Given the description of an element on the screen output the (x, y) to click on. 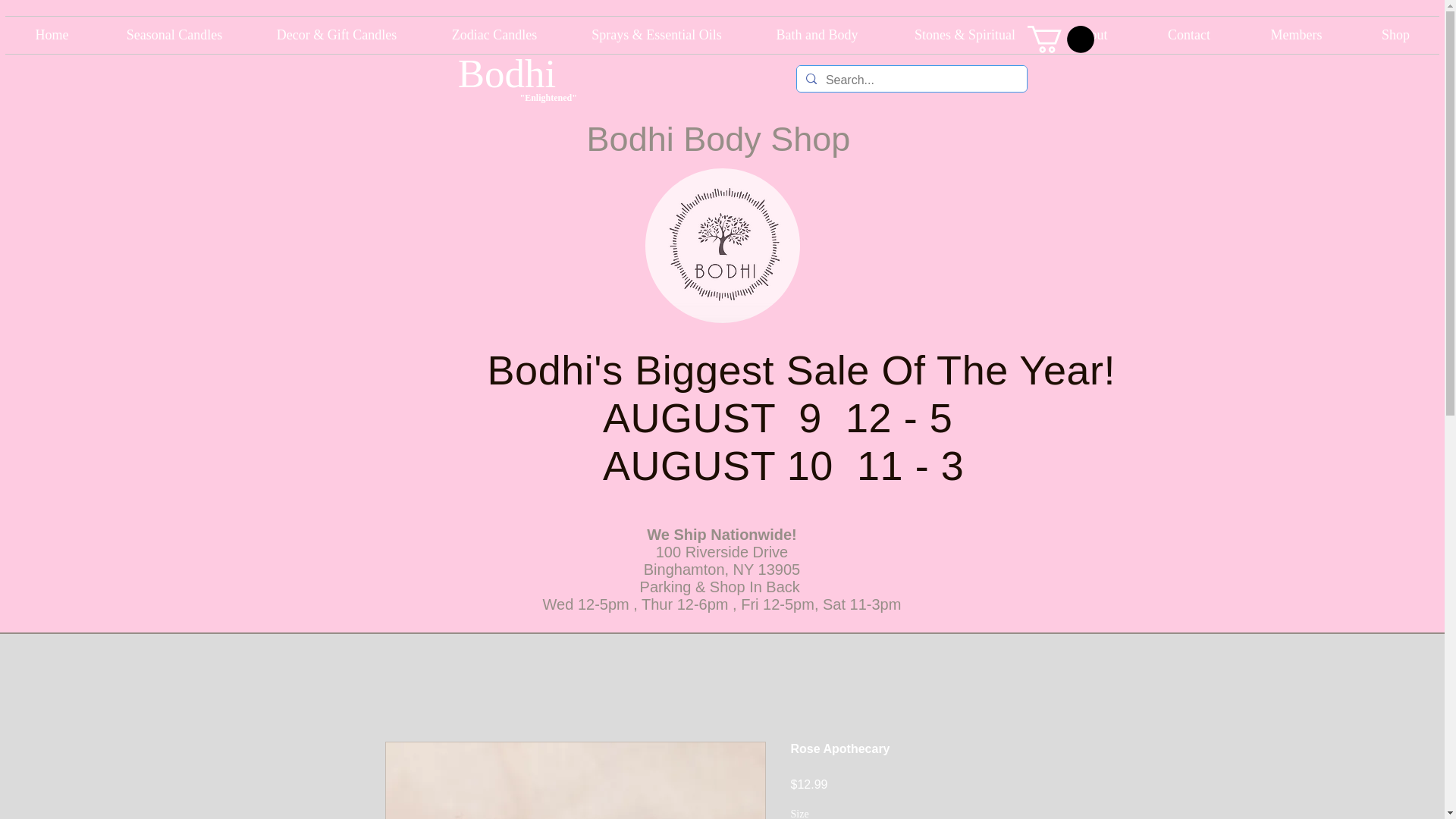
Seasonal Candles (174, 35)
Members (1296, 35)
Contact (1188, 35)
Home (52, 35)
Zodiac Candles (494, 35)
Bath and Body (817, 35)
About (1090, 35)
Bodhi (507, 73)
Shop (1395, 35)
